Given the description of an element on the screen output the (x, y) to click on. 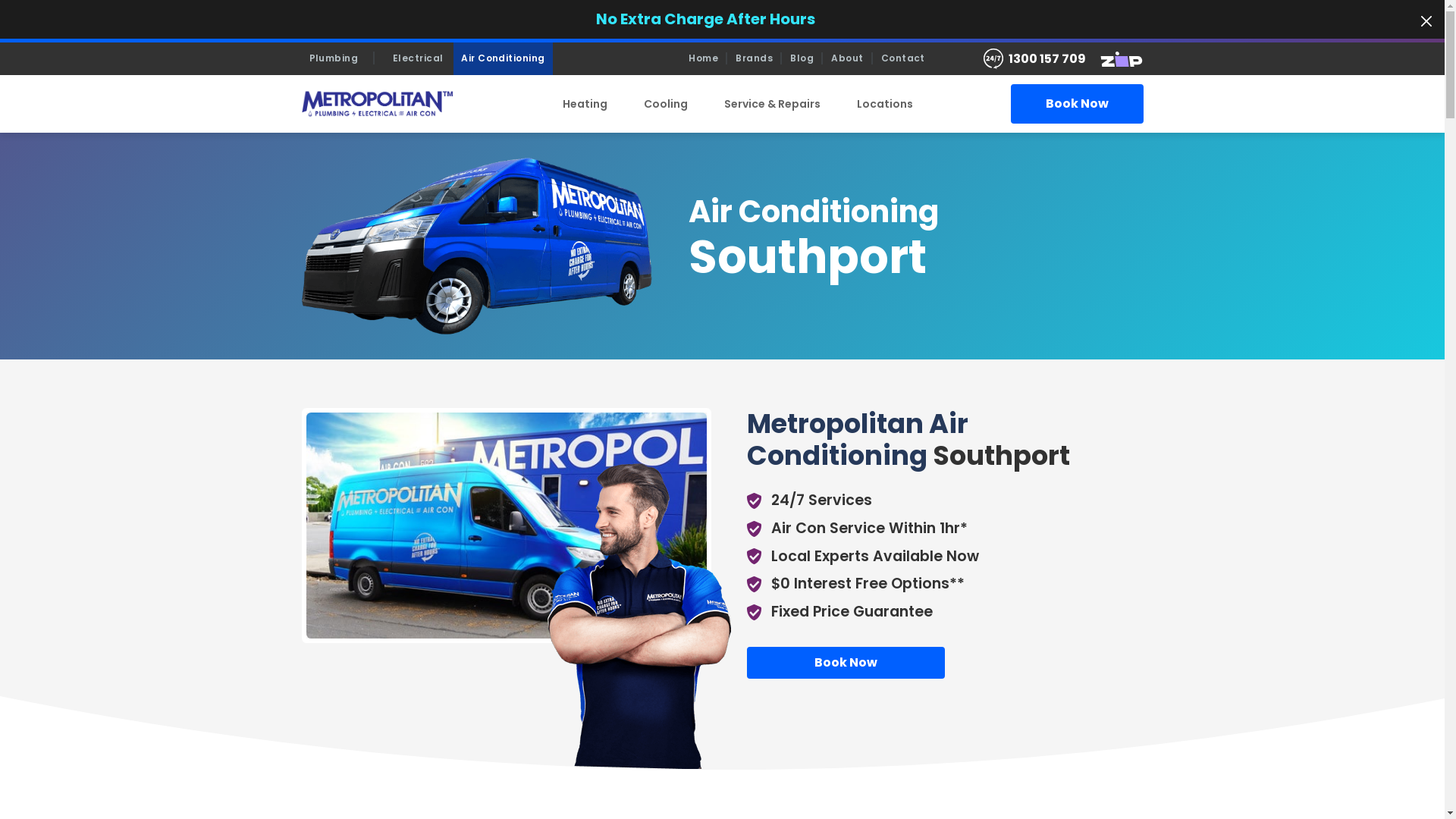
Brands Element type: text (754, 58)
Heating Element type: text (584, 104)
Air Conditioning Element type: text (502, 58)
Metropolitan Air Conditioning Southport Employee Element type: hover (632, 614)
Book Now Element type: text (845, 662)
Technician Southport Vans Available Now Element type: hover (476, 245)
No Extra Charge After Hours Element type: text (705, 18)
Contact Element type: text (902, 58)
Metropolitan Accepts Zip Pay Element type: hover (1115, 58)
About Element type: text (846, 58)
Book Now Element type: text (1076, 103)
Locations Element type: text (884, 104)
Home Element type: text (702, 58)
Service & Repairs Element type: text (772, 104)
Plumbing Element type: text (341, 58)
Blog Element type: text (801, 58)
1300 157 709 Element type: text (1046, 58)
Cooling Element type: text (665, 104)
Electrical Element type: text (418, 58)
24 Hours Air Conditioning Services Element type: hover (994, 58)
City of Southport  Element type: hover (506, 525)
